Given the description of an element on the screen output the (x, y) to click on. 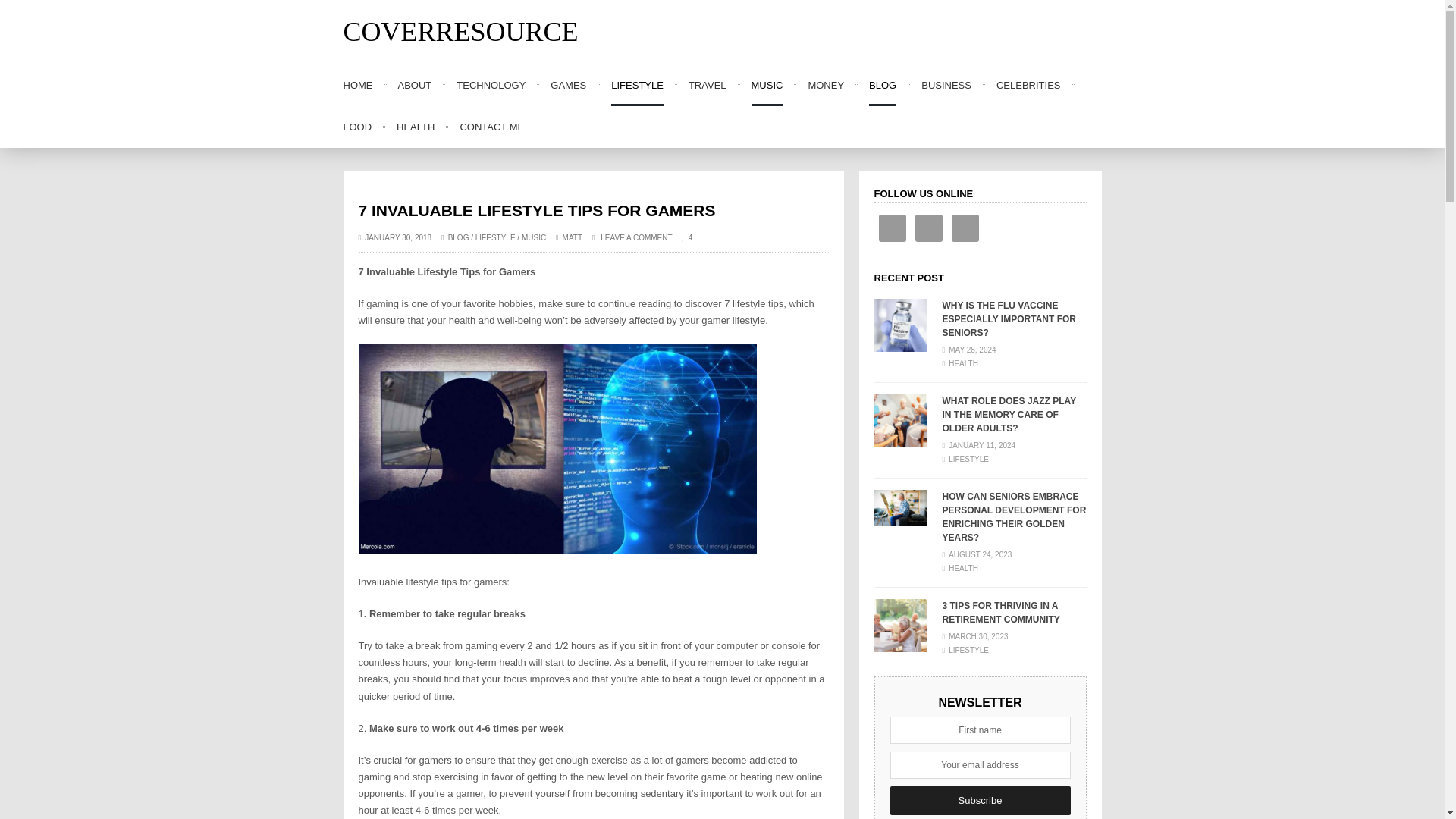
TRAVEL (707, 85)
CoverResource (460, 31)
LIFESTYLE (637, 85)
CONTACT ME (492, 127)
LIFESTYLE (495, 237)
3 Tips For Thriving In A Retirement Community (899, 624)
Why Is the Flu Vaccine Especially Important for Seniors? (899, 325)
CELEBRITIES (1028, 85)
MATT (572, 237)
Your email address (979, 764)
TECHNOLOGY (491, 85)
LEAVE A COMMENT (632, 237)
COVERRESOURCE (460, 31)
Posts by Matt (572, 237)
